Given the description of an element on the screen output the (x, y) to click on. 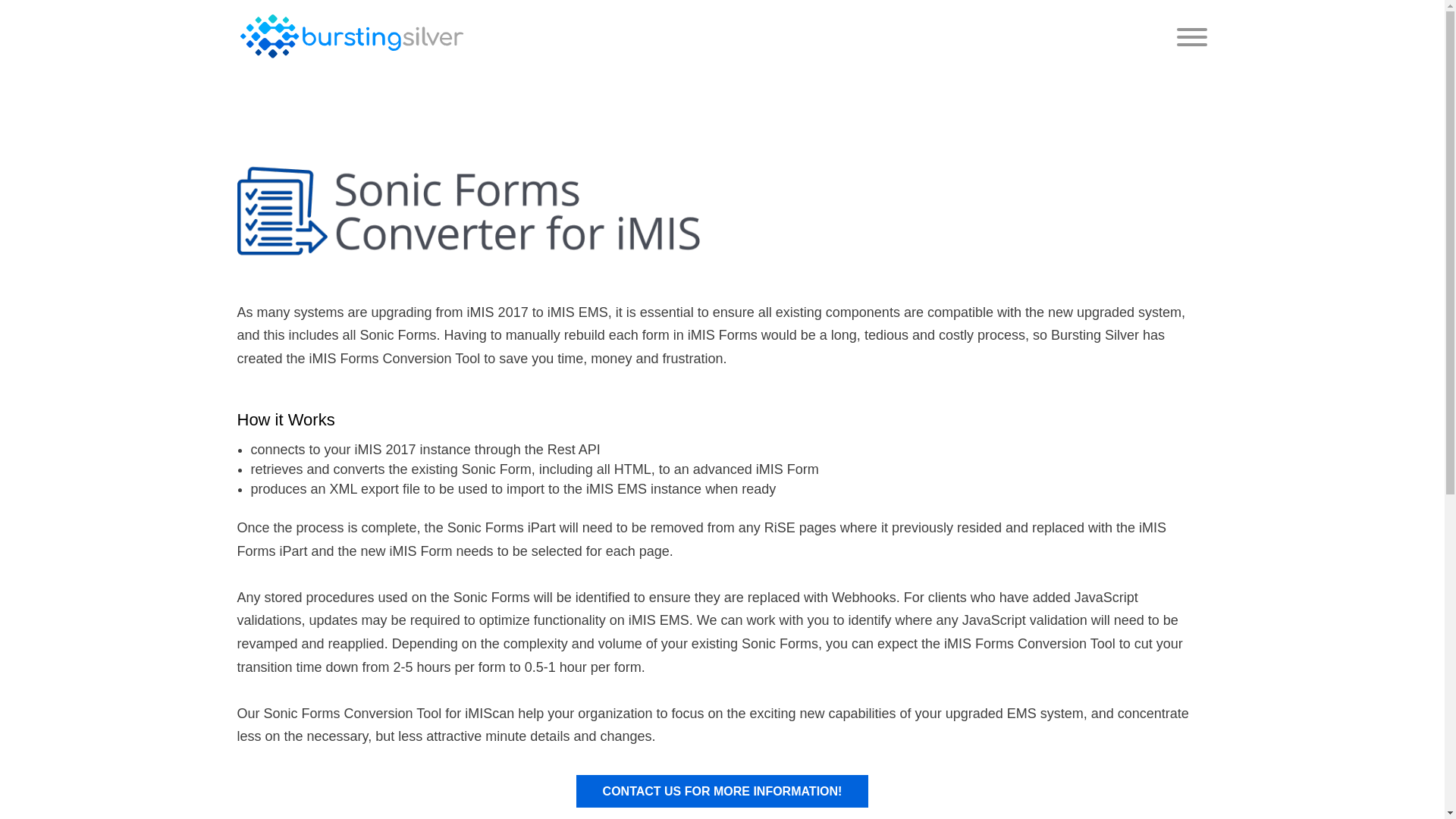
SonicFormsConverterTrans (478, 210)
CONTACT US FOR MORE INFORMATION! (722, 790)
bursting-silver (349, 36)
